Given the description of an element on the screen output the (x, y) to click on. 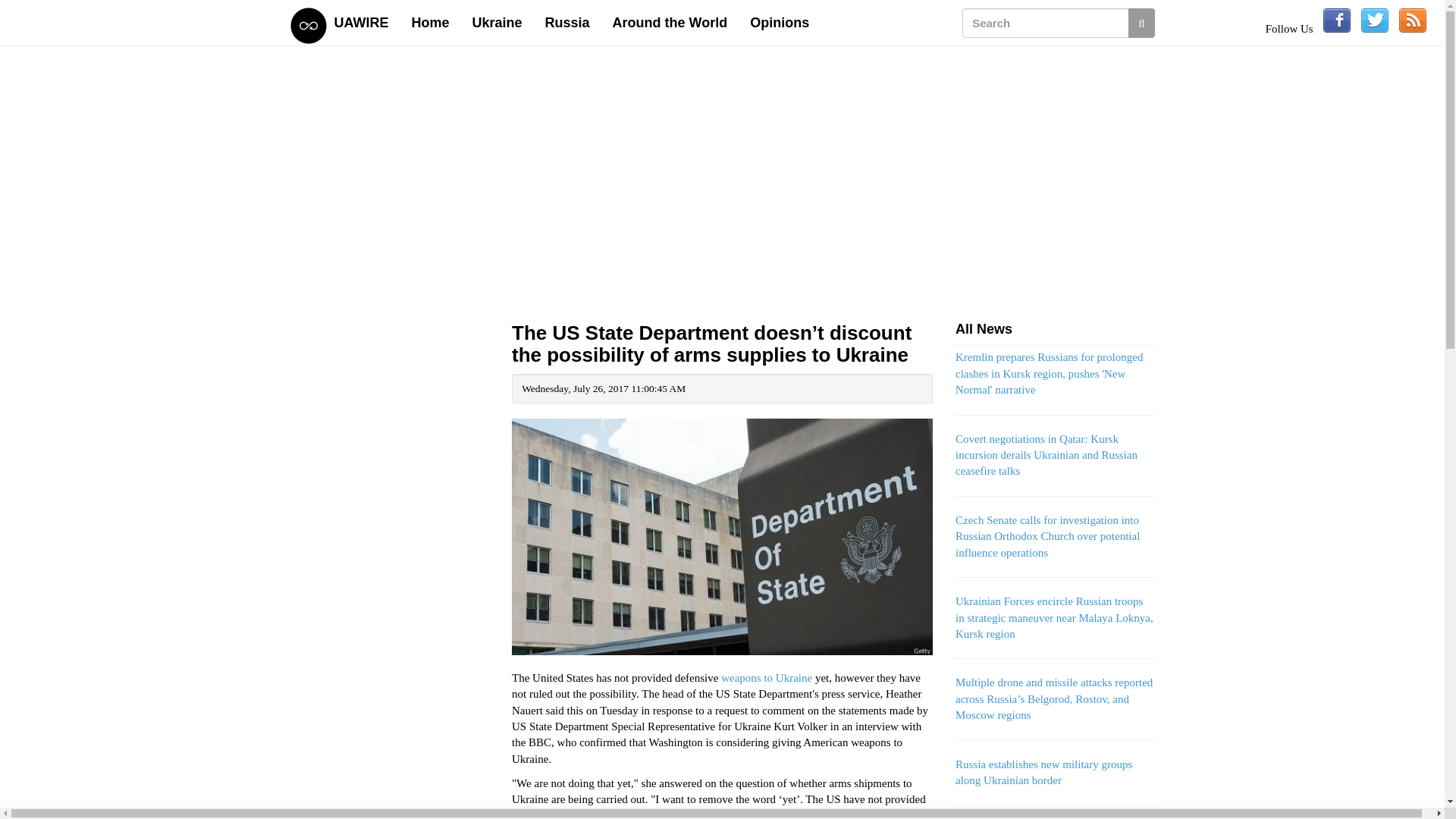
Ukraine (497, 22)
Advertisement (389, 790)
Home (430, 22)
Opinions (779, 22)
Follow us on Facebook (1337, 20)
Follow us on Twitter (1375, 20)
